Given the description of an element on the screen output the (x, y) to click on. 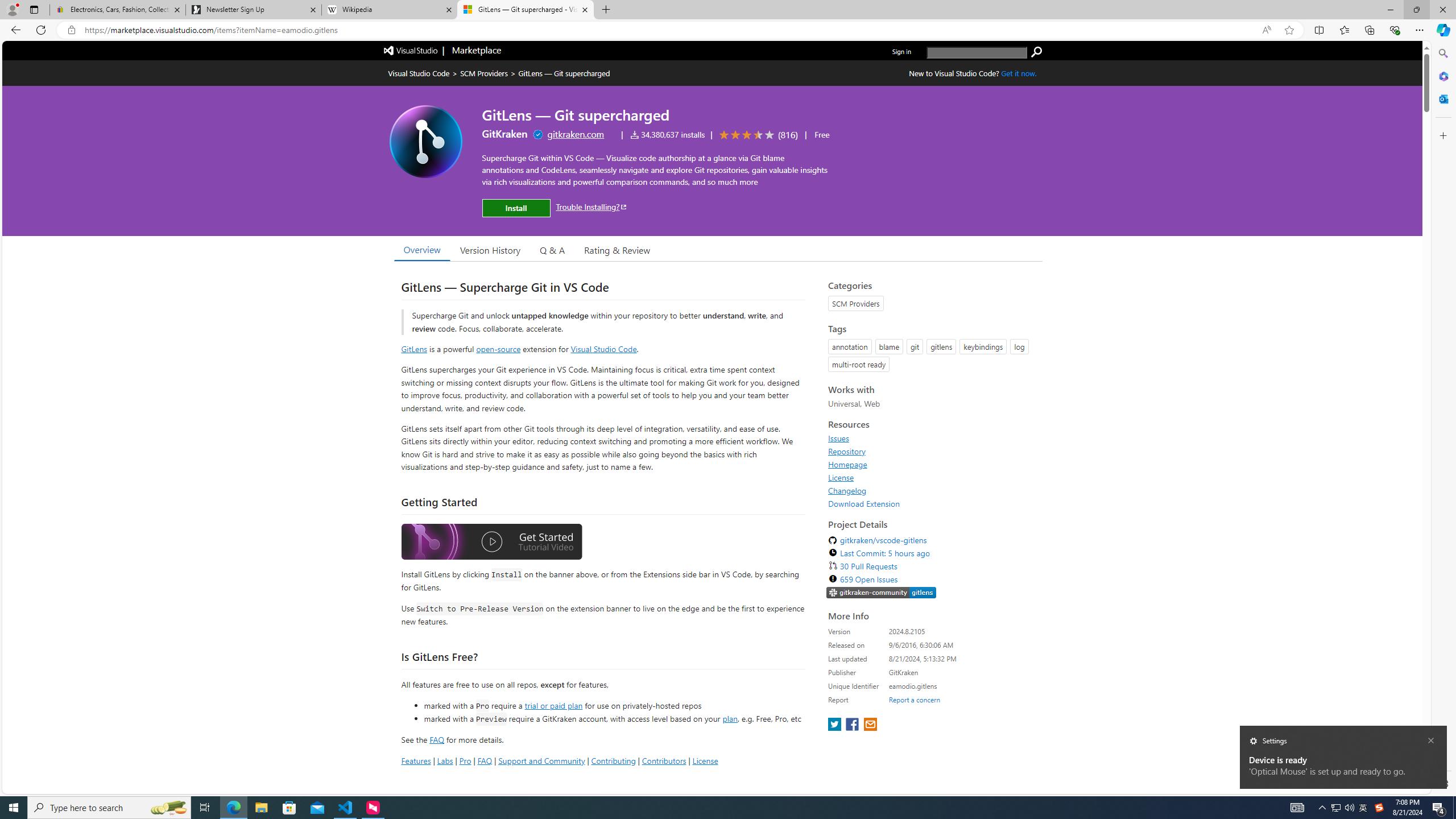
open-source (498, 348)
Changelog (931, 490)
Q & A (552, 249)
Average rating: 3.7 out of 5. Navigate to user reviews. (756, 134)
Newsletter Sign Up (253, 9)
Visual Studio logo (411, 49)
